Given the description of an element on the screen output the (x, y) to click on. 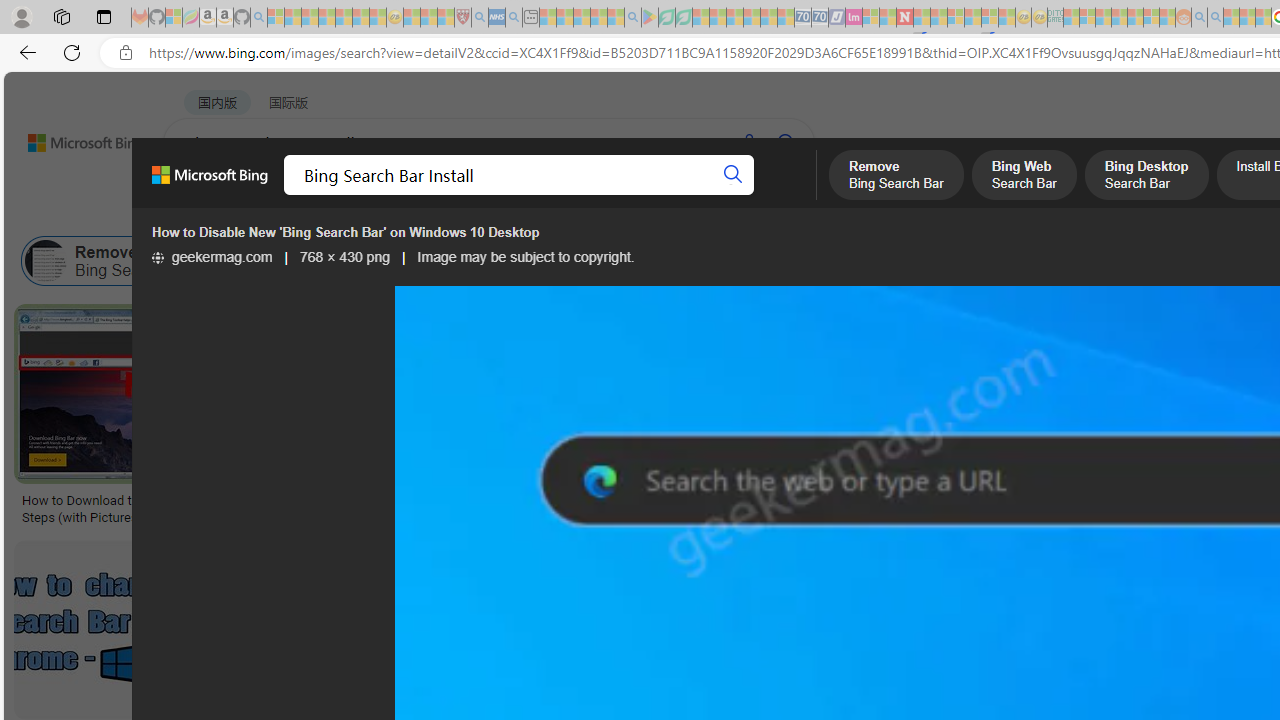
Class: item col (1034, 260)
Back to Bing search (73, 138)
Remove Bing Search Bar (116, 260)
Microsoft Bing, Back to Bing search (209, 183)
Image may be subject to copyright. (525, 257)
MY BING (276, 195)
DICT (717, 195)
geekermag.com (211, 257)
1:35 (849, 322)
